Given the description of an element on the screen output the (x, y) to click on. 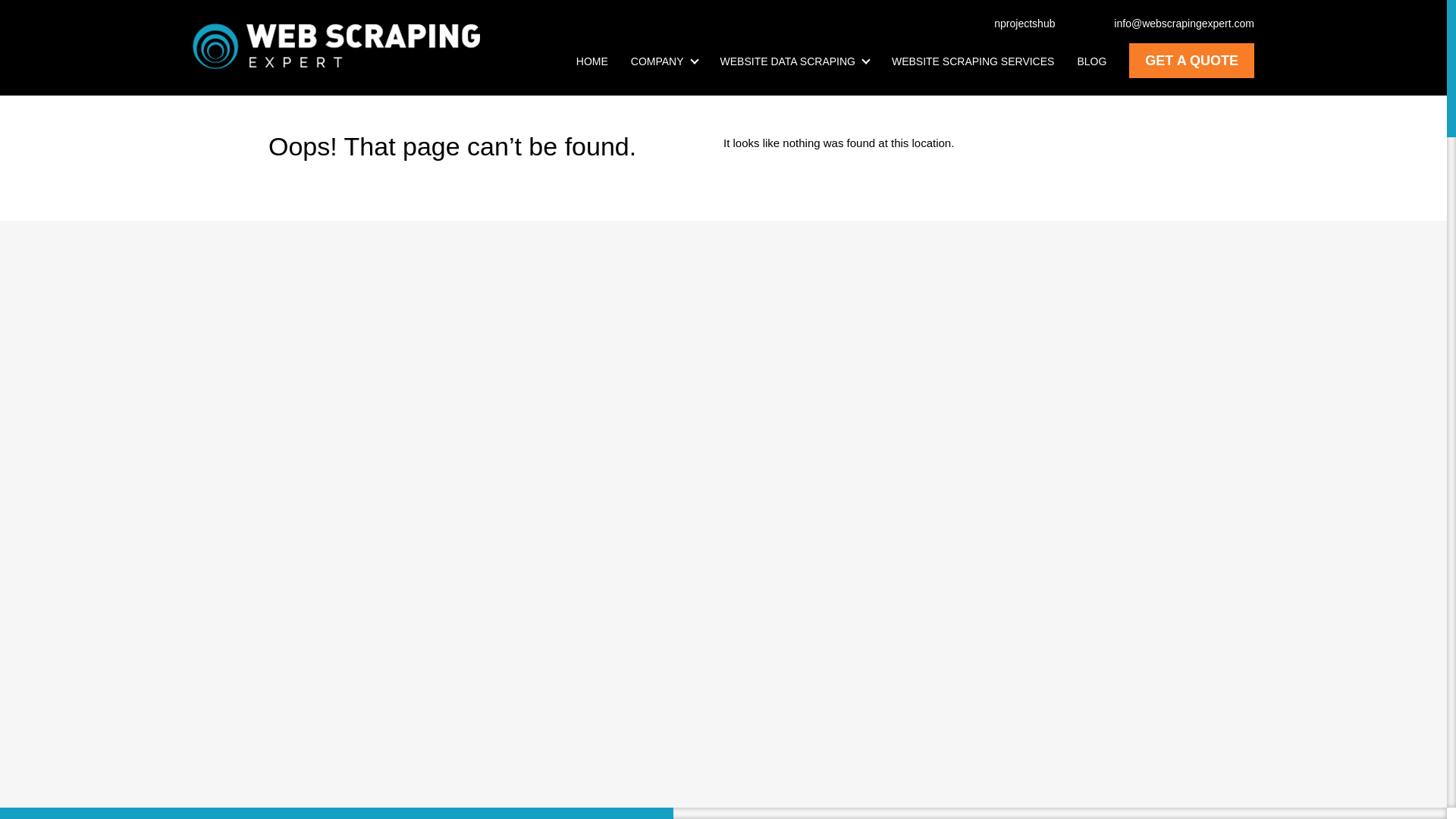
HOME (592, 61)
Web Scraping Expert (336, 45)
nprojectshub (1016, 23)
